Given the description of an element on the screen output the (x, y) to click on. 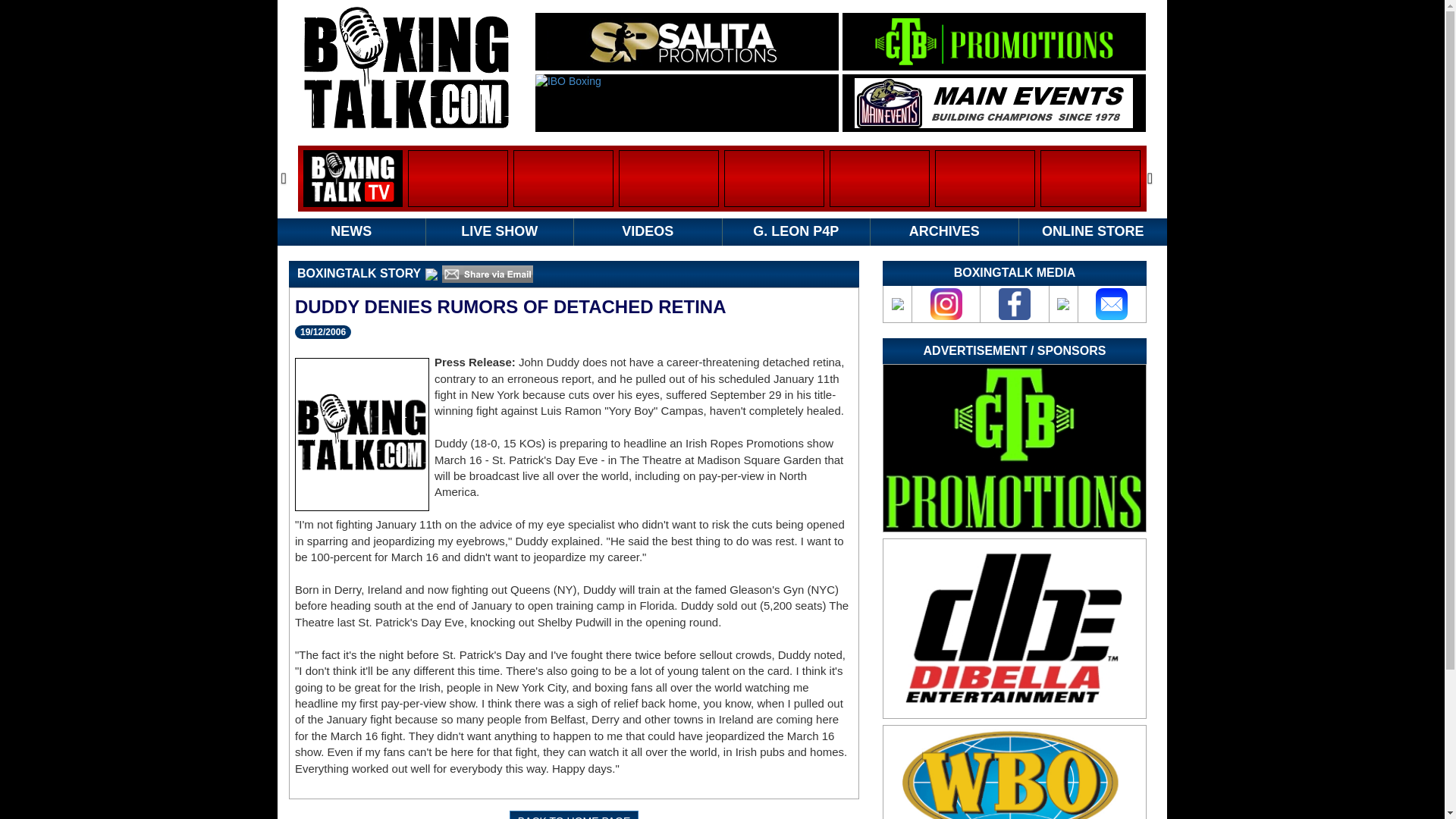
BoxingTalk TV (352, 178)
IBO Boxing (686, 102)
Salita Promotions (686, 41)
Dibella Entertainment (1014, 628)
World Boxing Organization (1014, 772)
TGB Promotions (993, 41)
TGB Promotions 2 (1014, 447)
Main Events (993, 102)
